Given the description of an element on the screen output the (x, y) to click on. 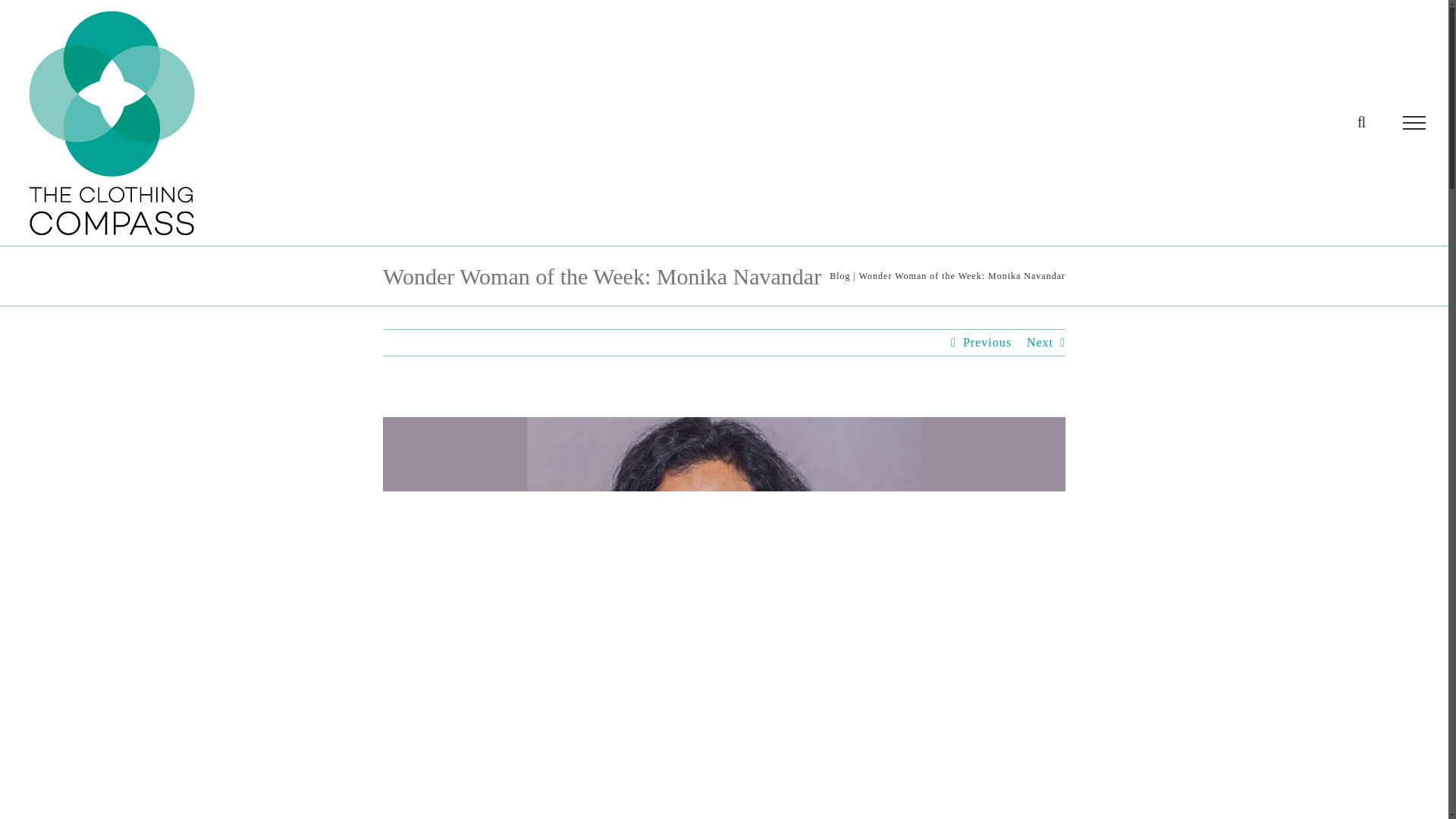
Blog (839, 276)
Previous (986, 342)
Next (1039, 342)
